Given the description of an element on the screen output the (x, y) to click on. 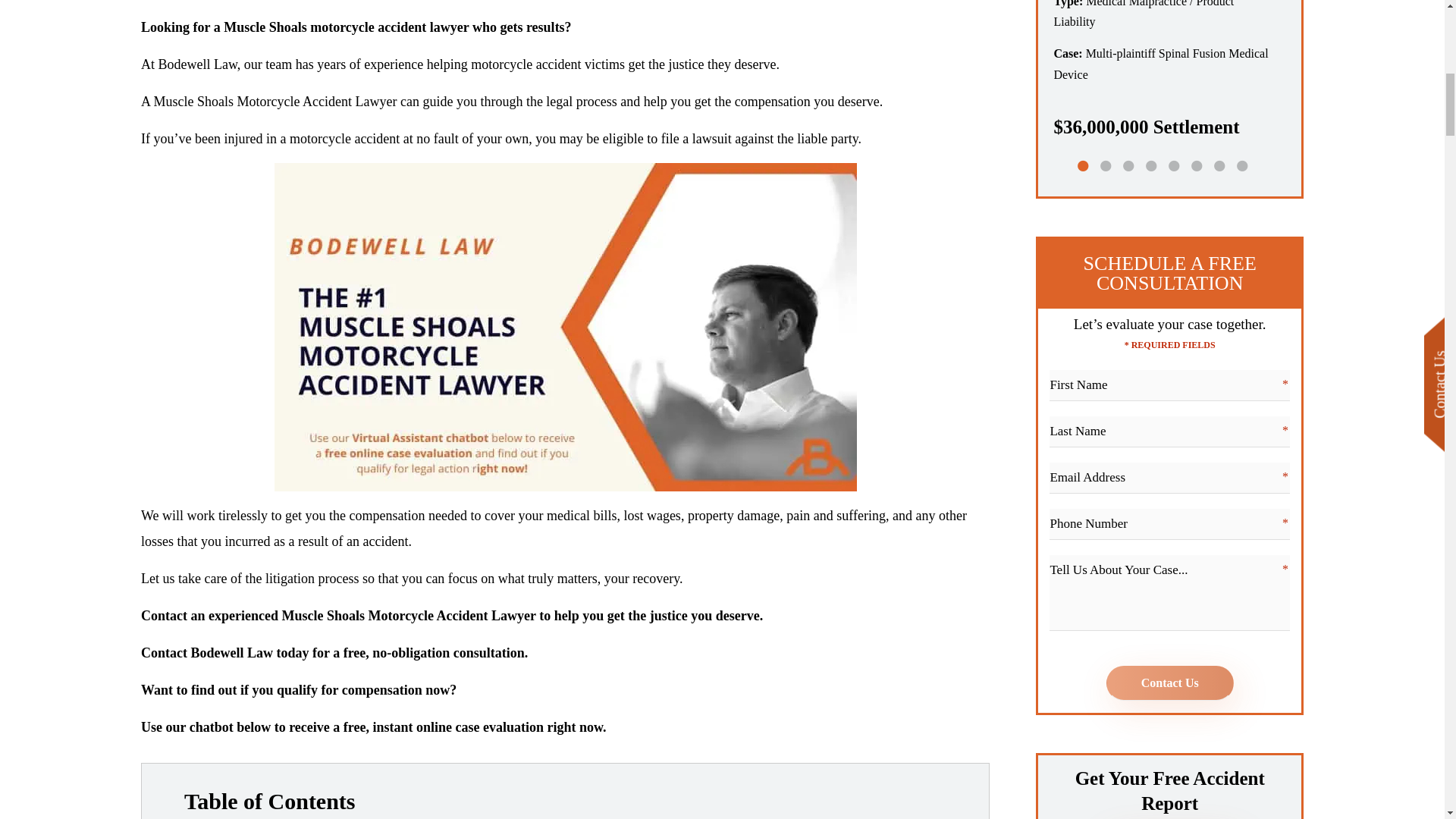
Contact Us (1169, 683)
